Given the description of an element on the screen output the (x, y) to click on. 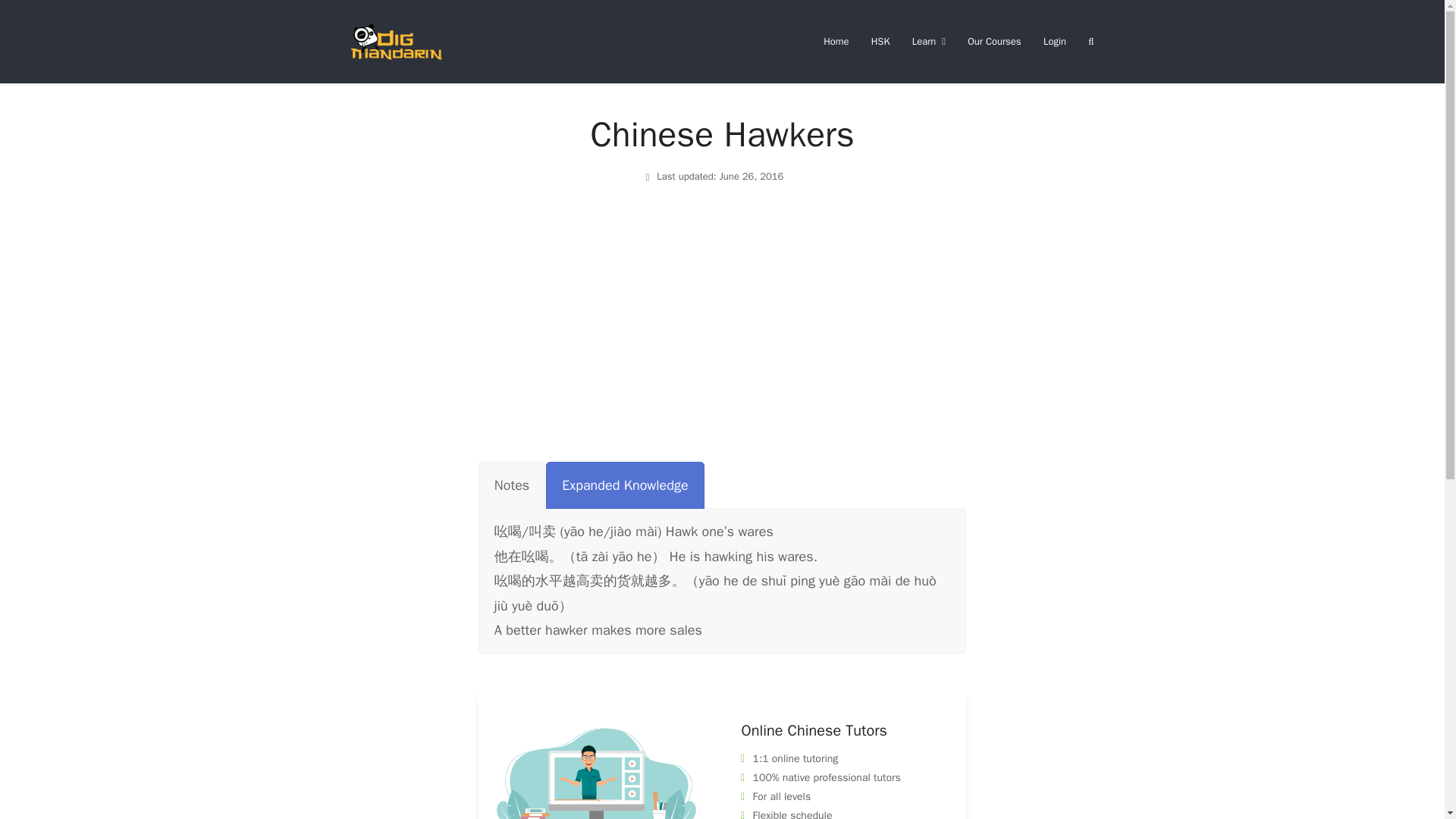
Online-Tutor (596, 769)
Notes (511, 484)
Our Courses (994, 41)
Expanded Knowledge (624, 484)
